Given the description of an element on the screen output the (x, y) to click on. 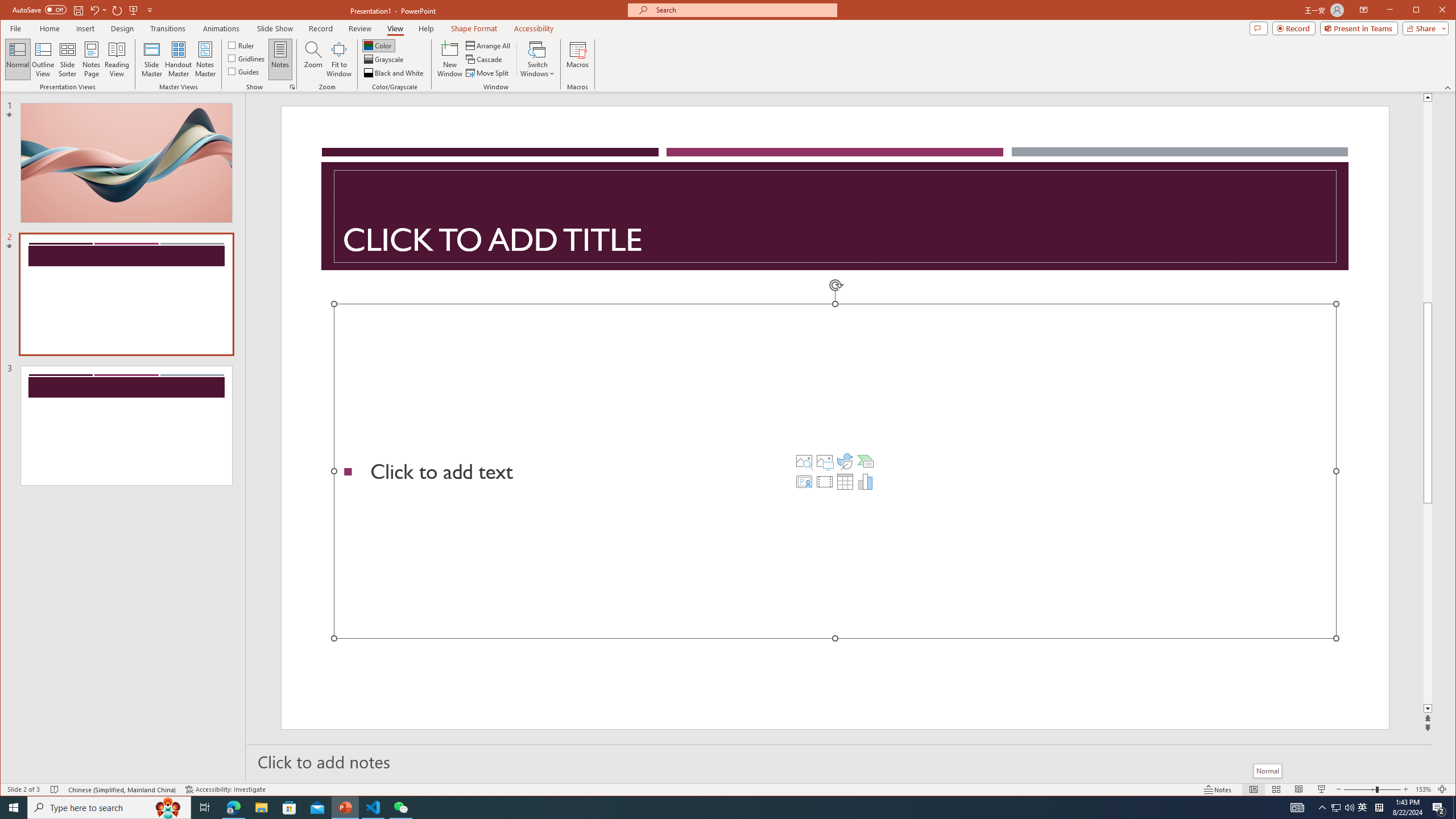
New Window (450, 59)
